Given the description of an element on the screen output the (x, y) to click on. 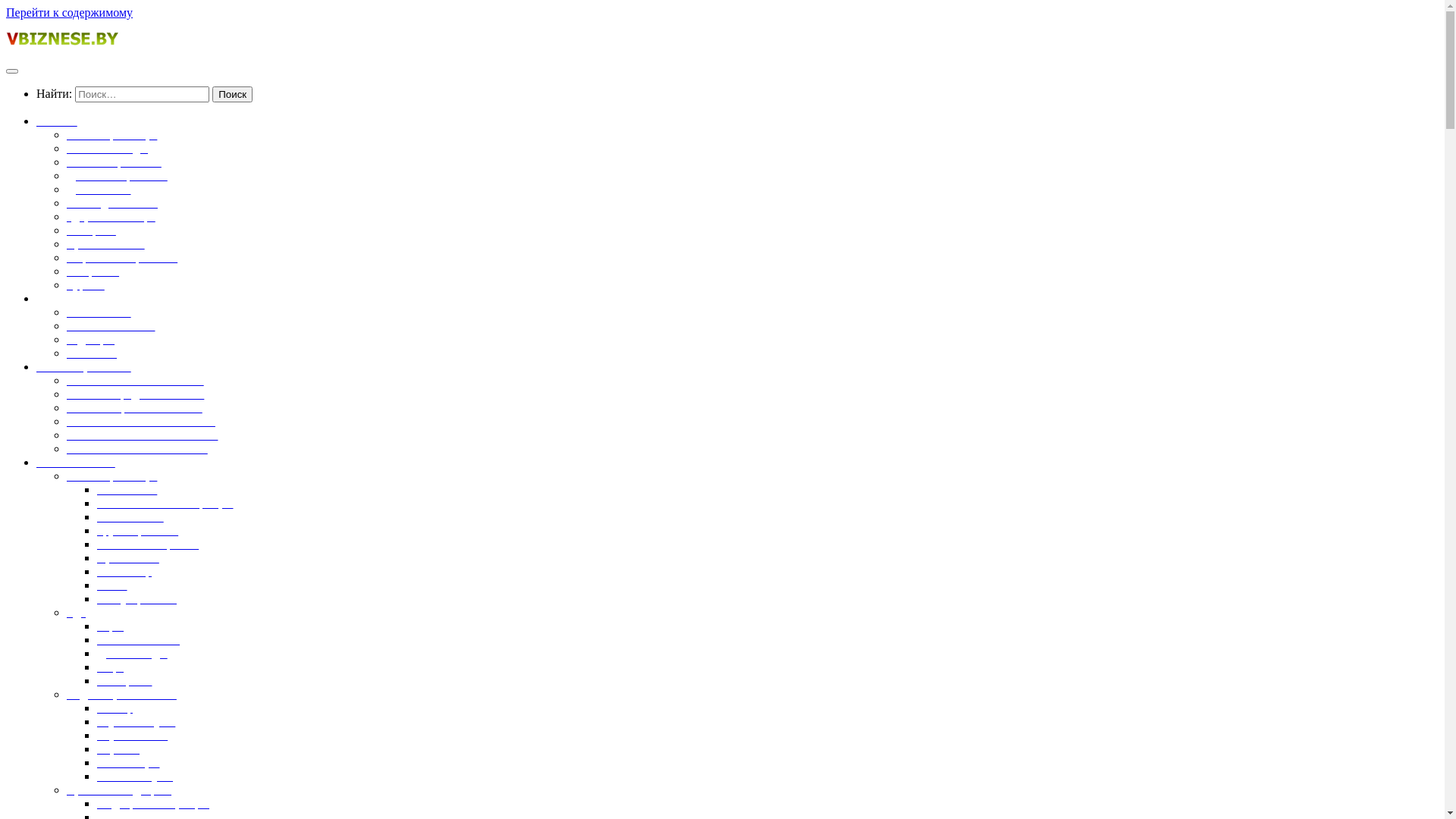
Menu Element type: hover (12, 71)
